Given the description of an element on the screen output the (x, y) to click on. 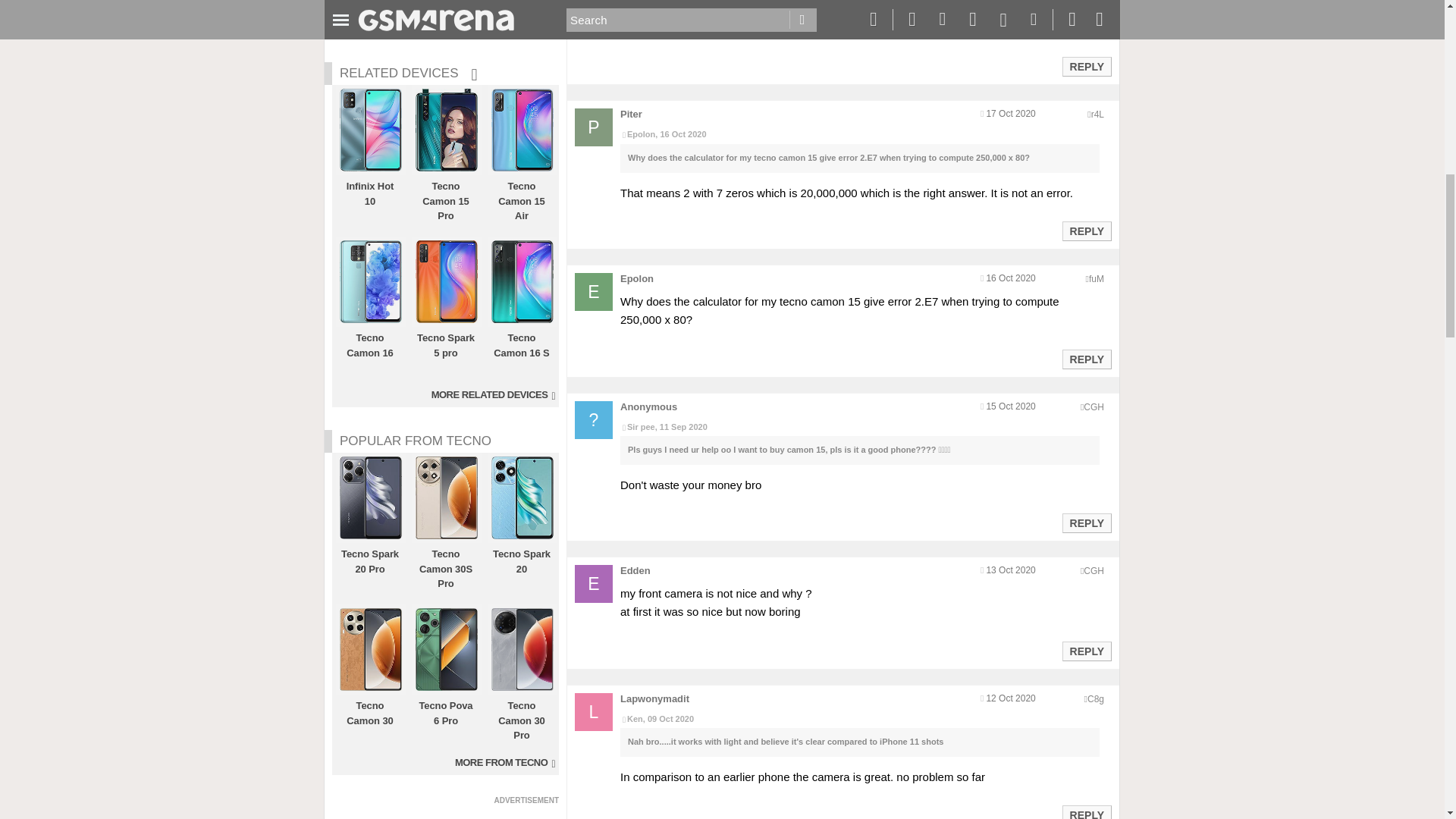
Reply to this post (1086, 358)
Encoded anonymized location (1096, 113)
Encoded anonymized location (1096, 278)
Reply to this post (1086, 522)
Reply to this post (1086, 66)
Encoded anonymized location (1093, 407)
Reply to this post (1086, 231)
Encoded anonymized location (1093, 570)
